Given the description of an element on the screen output the (x, y) to click on. 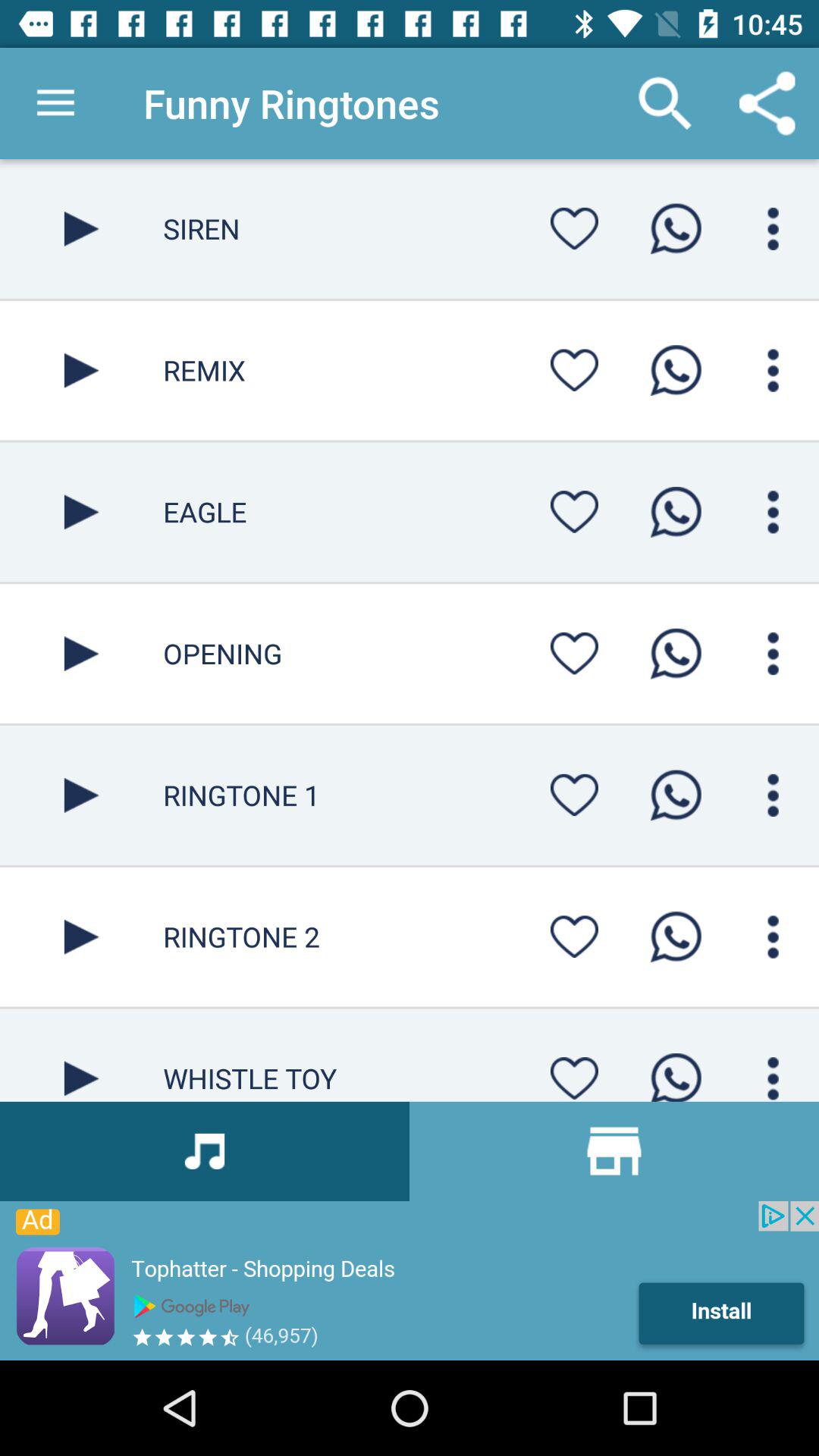
music play the option (81, 936)
